Given the description of an element on the screen output the (x, y) to click on. 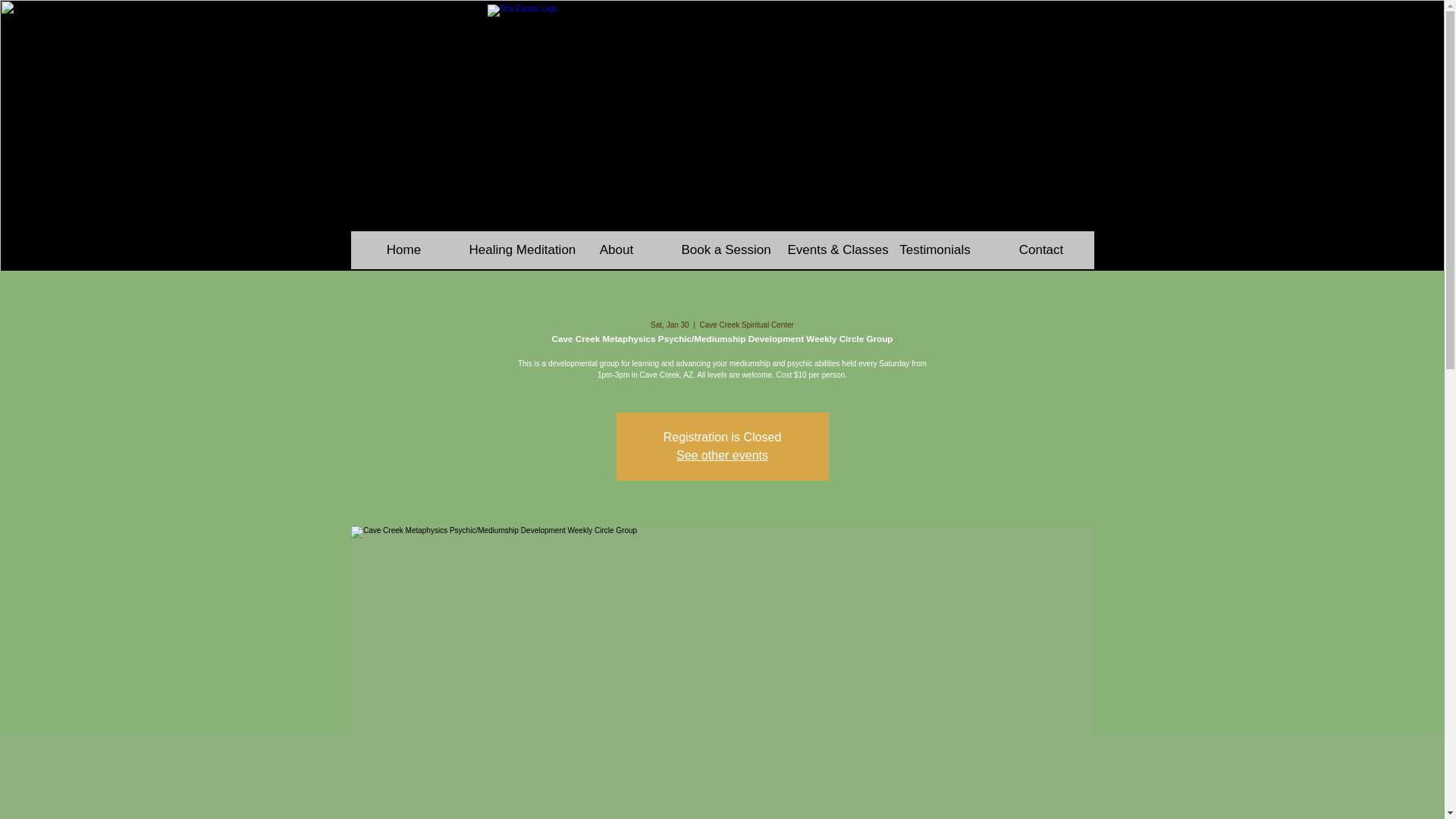
Contact (1040, 249)
About (615, 249)
Healing Meditation (509, 249)
Home (403, 249)
See other events (722, 454)
Book a Session (721, 249)
Testimonials (933, 249)
